Given the description of an element on the screen output the (x, y) to click on. 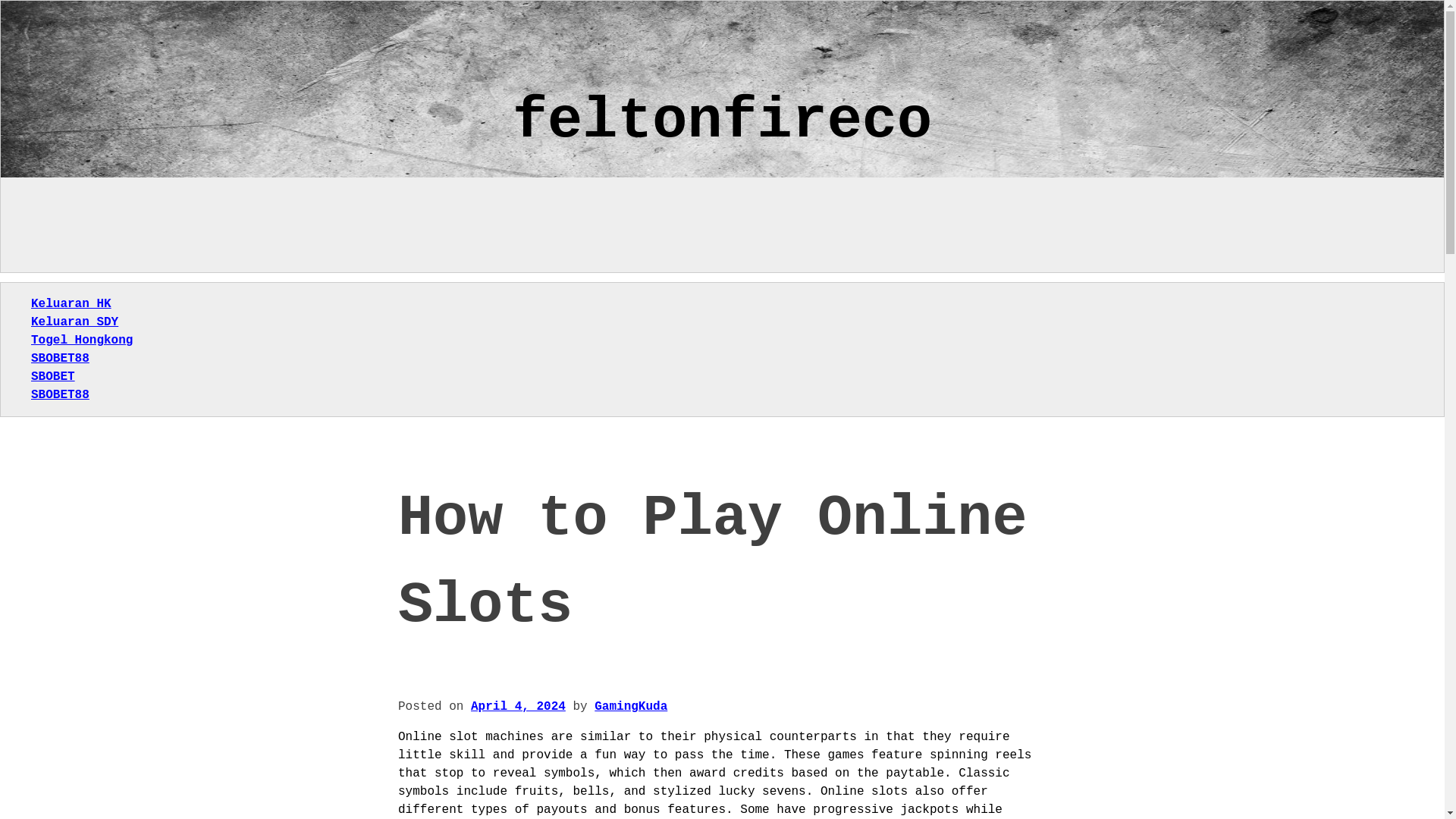
SBOBET88 (59, 395)
SBOBET88 (59, 358)
Togel Hongkong (81, 340)
Keluaran HK (71, 304)
SBOBET (52, 377)
April 4, 2024 (518, 706)
GamingKuda (630, 706)
Keluaran SDY (73, 322)
feltonfireco (721, 120)
